Given the description of an element on the screen output the (x, y) to click on. 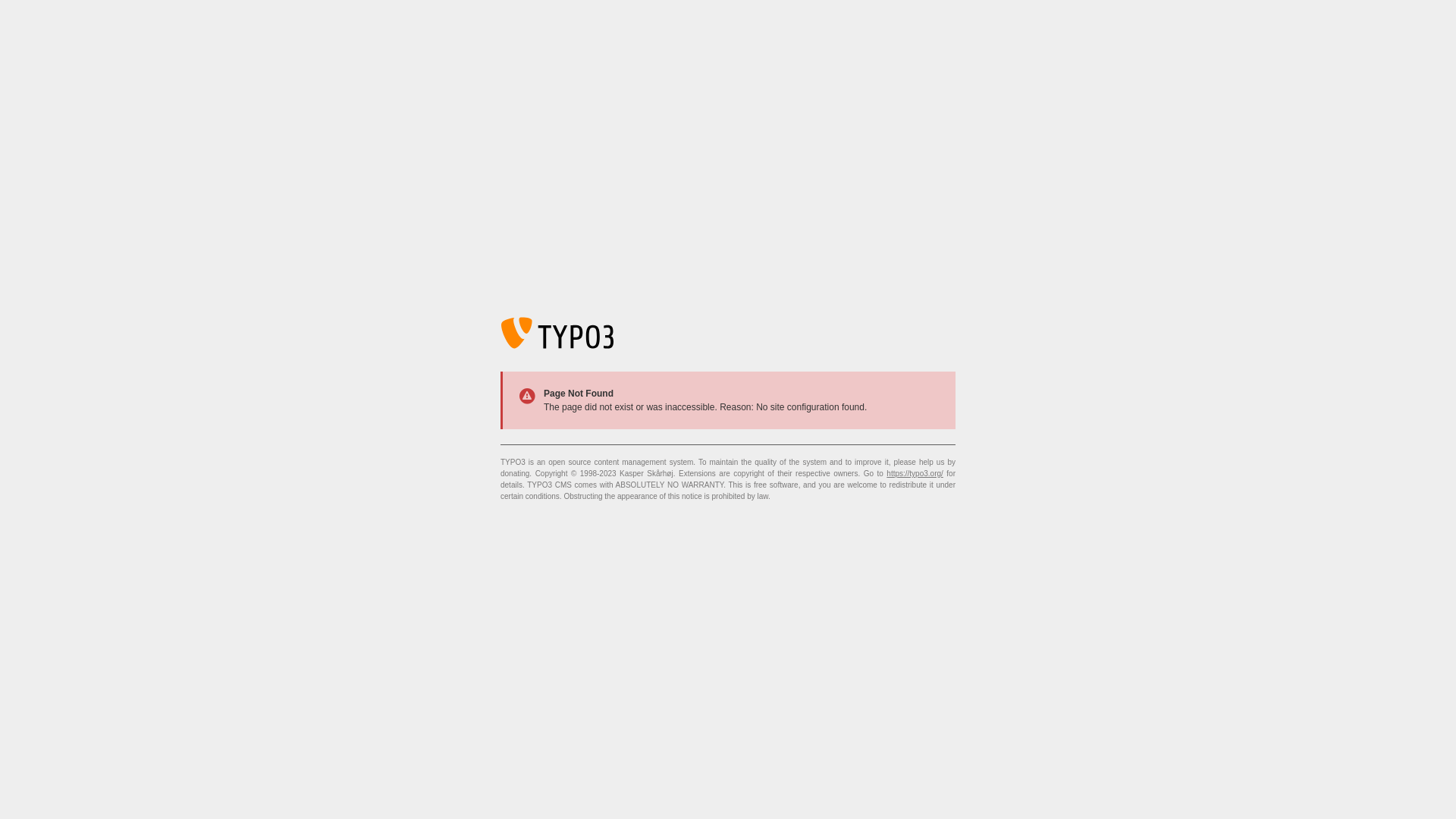
https://typo3.org/ Element type: text (914, 473)
